Given the description of an element on the screen output the (x, y) to click on. 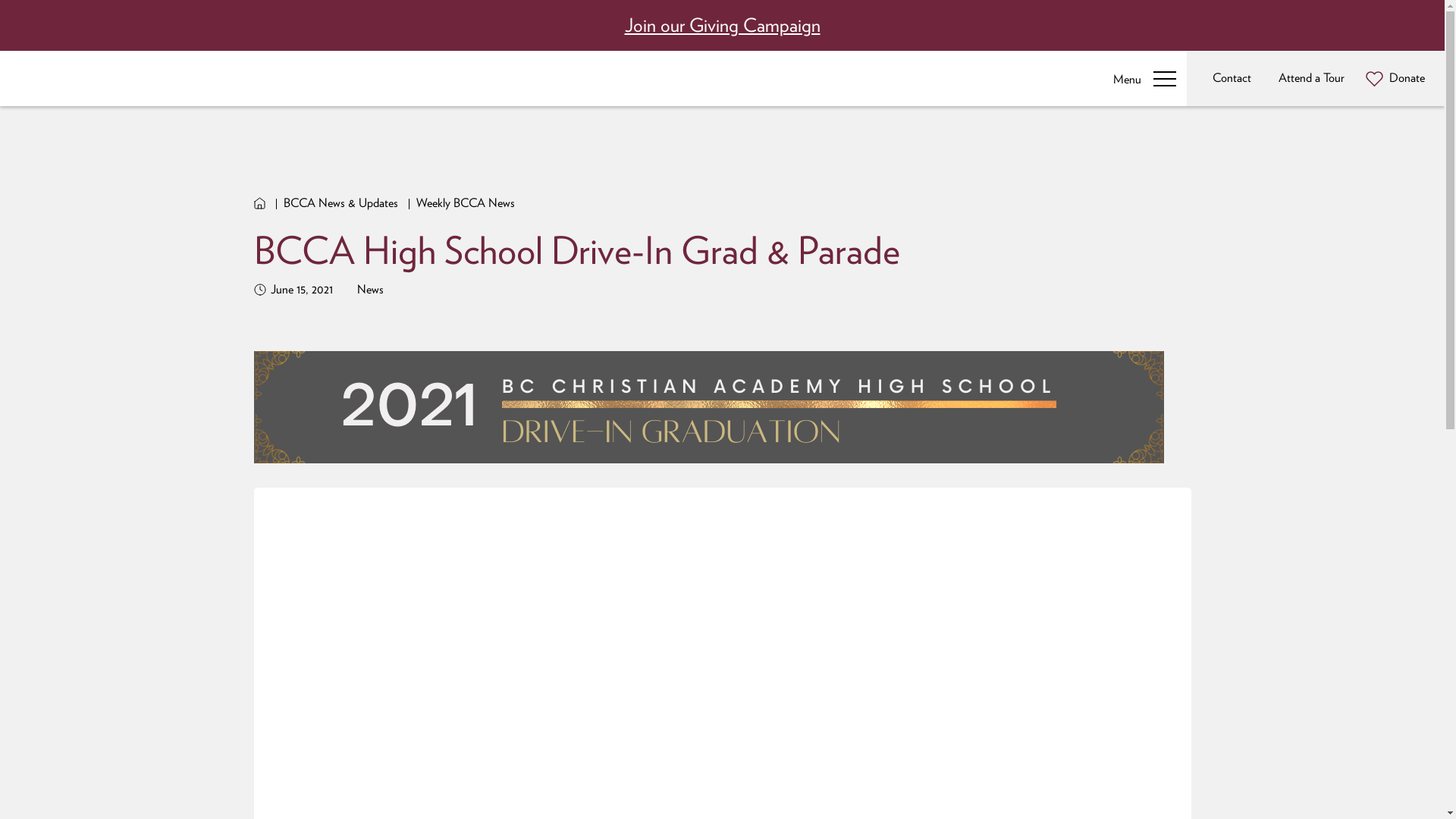
Contact Element type: text (1228, 78)
Donate Element type: text (1395, 78)
Join our Giving Campaign Element type: text (722, 24)
YouTube video player Element type: hover (721, 690)
News Element type: text (369, 289)
Attend a Tour Element type: text (1308, 78)
BCCA News & Updates Element type: text (340, 202)
